Given the description of an element on the screen output the (x, y) to click on. 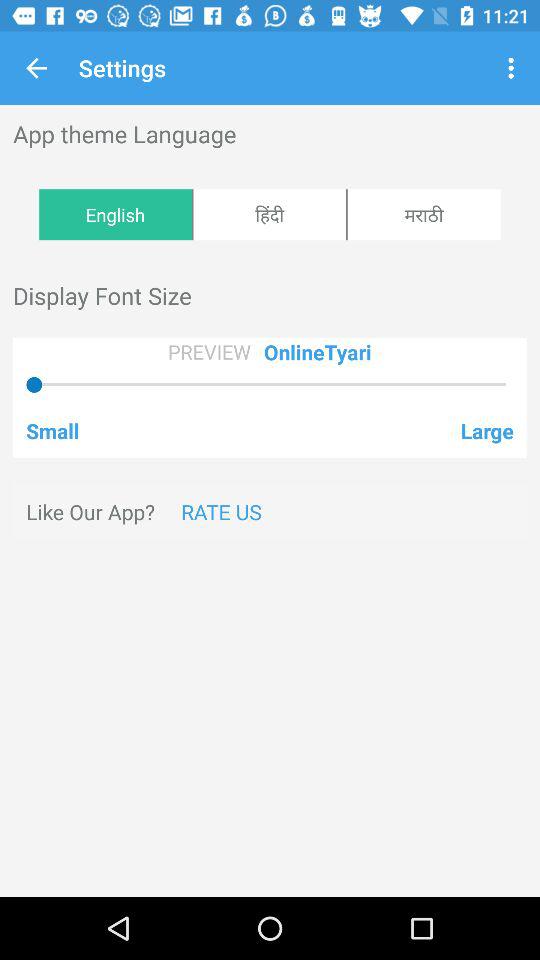
tap item next to app theme language (513, 67)
